Given the description of an element on the screen output the (x, y) to click on. 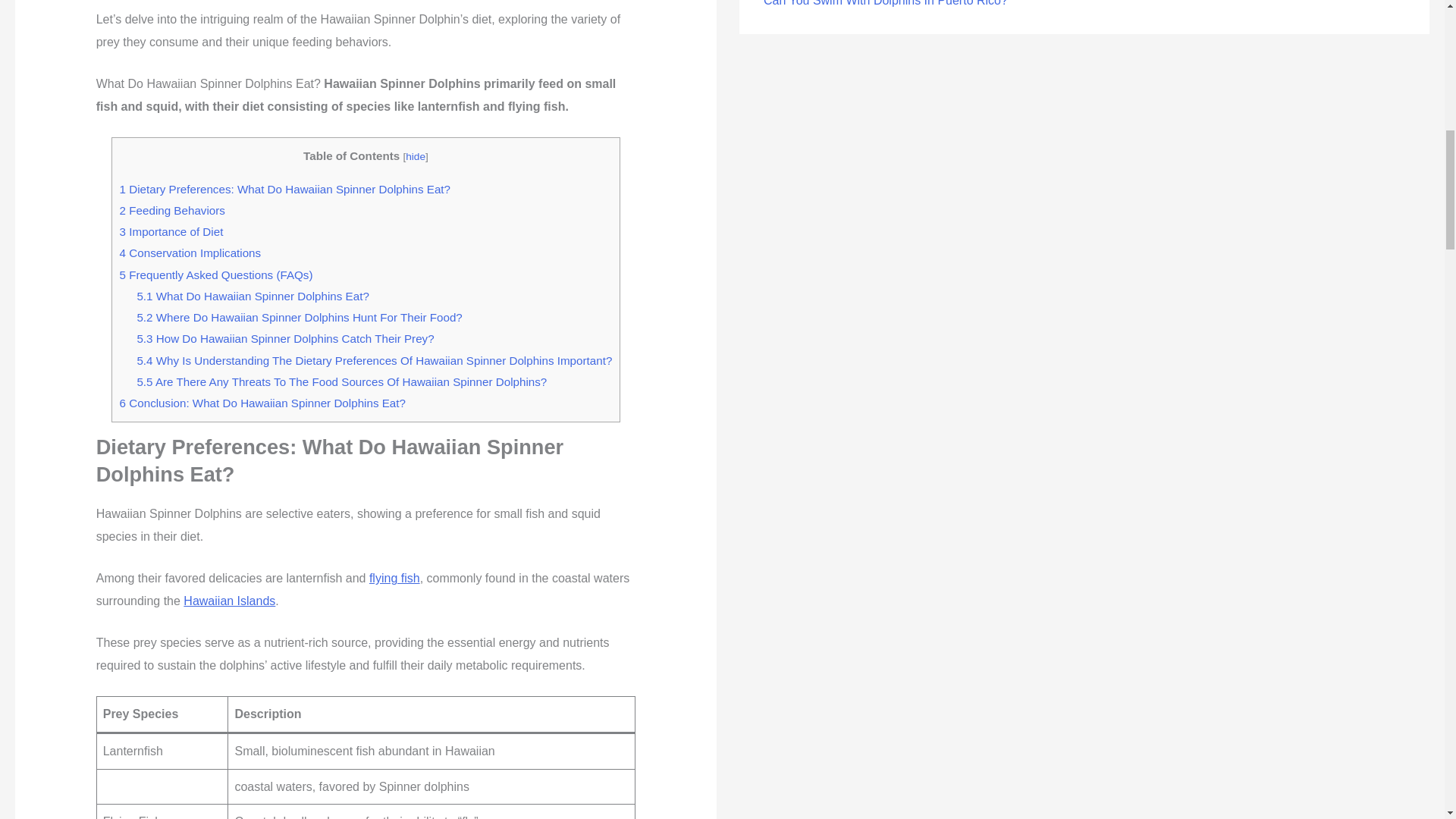
5.2 Where Do Hawaiian Spinner Dolphins Hunt For Their Food? (298, 317)
3 Importance of Diet (171, 231)
5.1 What Do Hawaiian Spinner Dolphins Eat? (252, 295)
hide (415, 156)
2 Feeding Behaviors (172, 210)
5.3 How Do Hawaiian Spinner Dolphins Catch Their Prey? (284, 338)
4 Conservation Implications (190, 252)
